Given the description of an element on the screen output the (x, y) to click on. 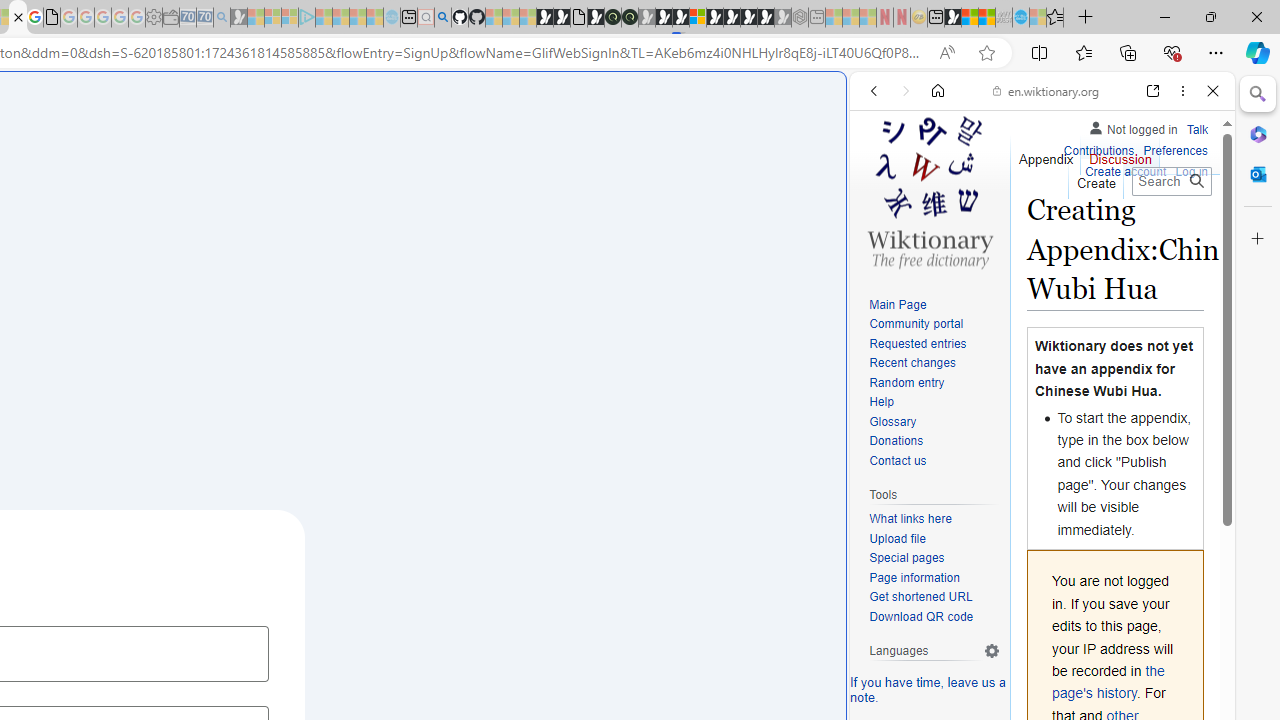
Go (1196, 181)
Log in (1191, 172)
Create account (1125, 169)
Search or enter web address (343, 191)
Create account (1125, 172)
